Given the description of an element on the screen output the (x, y) to click on. 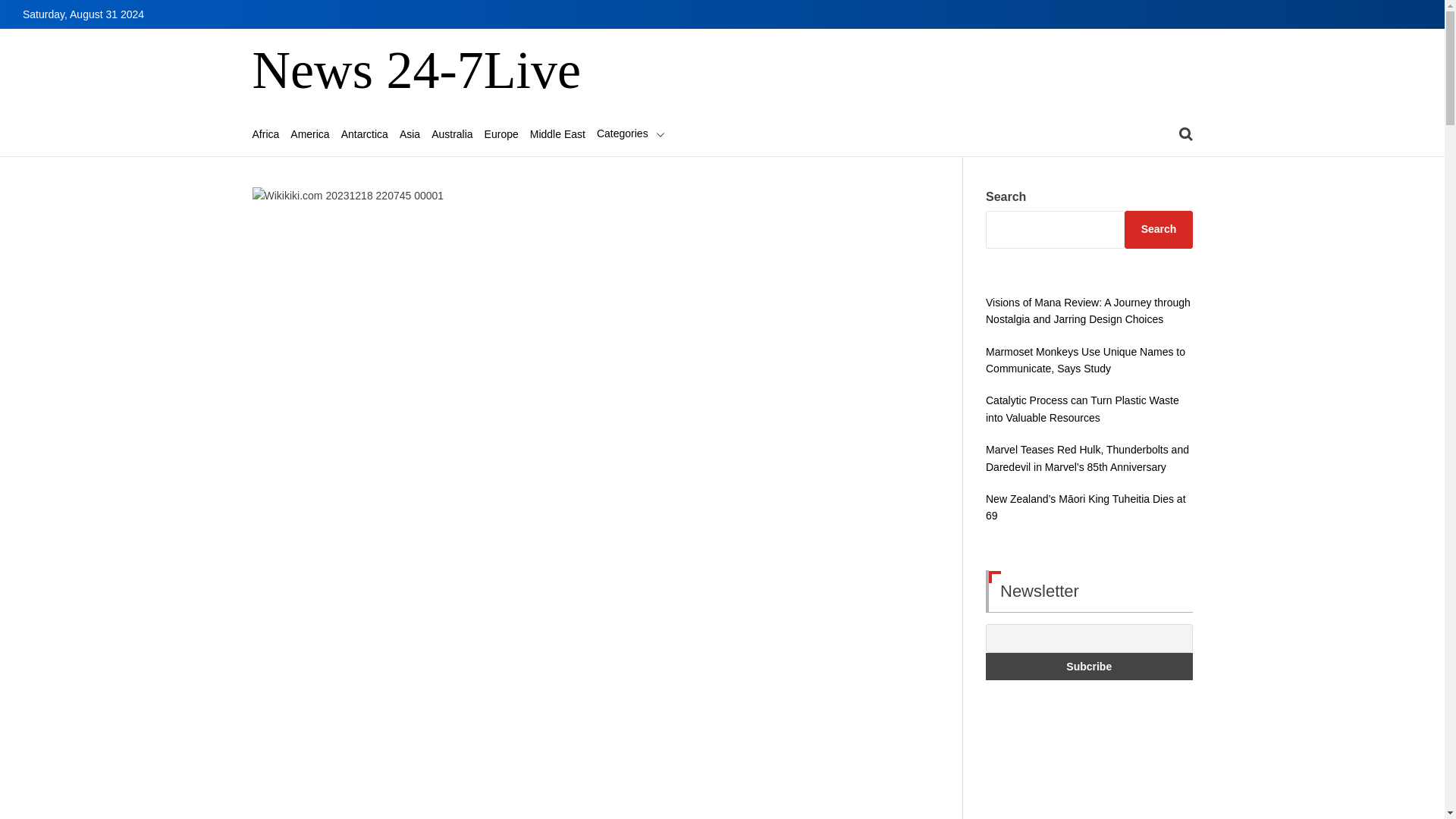
Europe (501, 133)
Australia (450, 133)
America (309, 133)
Africa (265, 133)
Middle East (557, 133)
Asia (409, 133)
News 24-7Live (415, 70)
Subcribe (1088, 666)
Antarctica (364, 133)
Categories (630, 133)
